Given the description of an element on the screen output the (x, y) to click on. 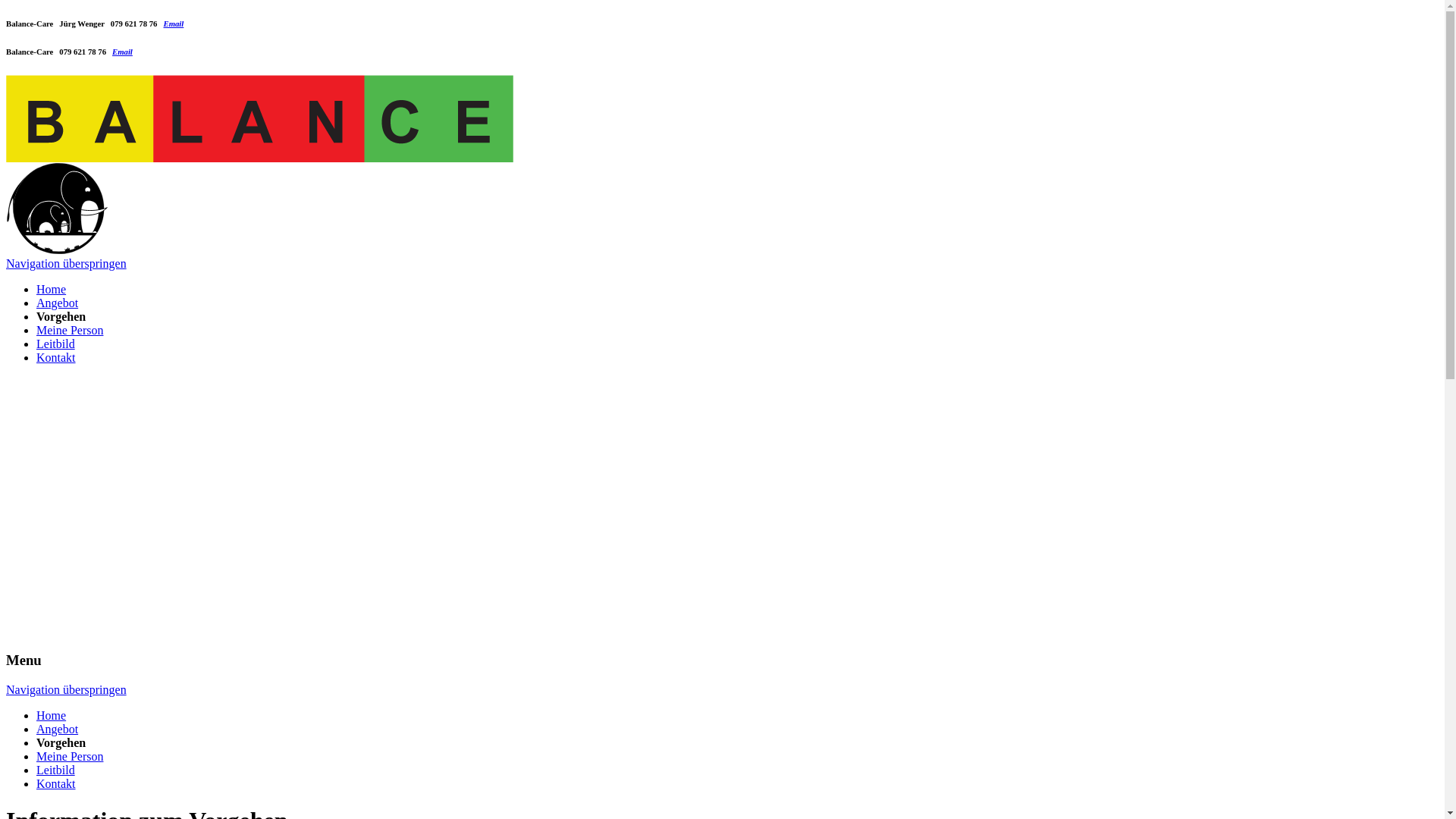
Angebot Element type: text (57, 302)
Email Element type: text (173, 23)
Email Element type: text (122, 51)
Home Element type: text (50, 288)
Leitbild Element type: text (55, 343)
Kontakt Element type: text (55, 357)
Meine Person Element type: text (69, 329)
Angebot Element type: text (57, 728)
Kontakt Element type: text (55, 783)
Leitbild Element type: text (55, 769)
Home Element type: text (50, 715)
Meine Person Element type: text (69, 755)
